Given the description of an element on the screen output the (x, y) to click on. 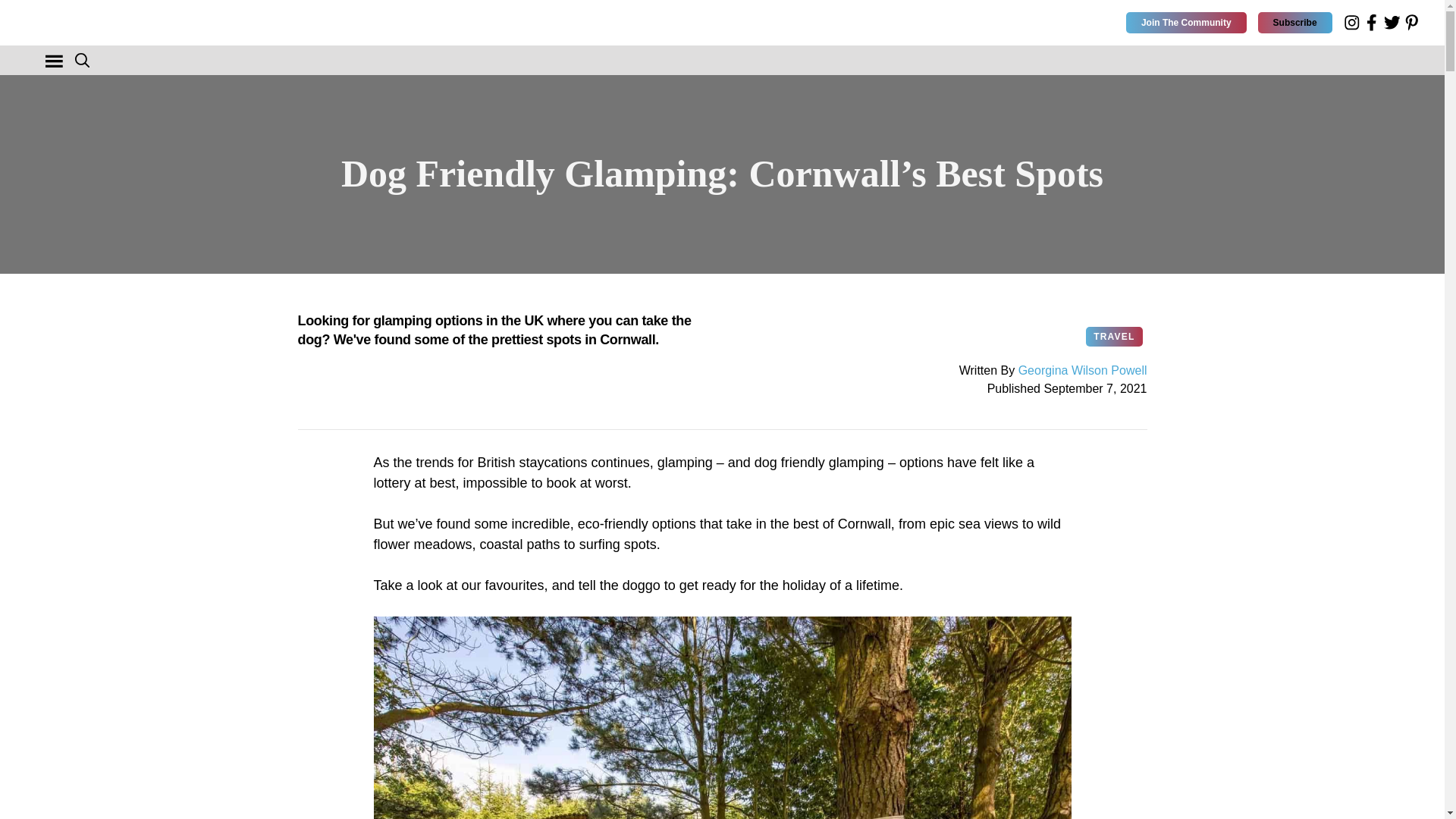
Subscribe (1294, 22)
Georgina Wilson Powell (1082, 369)
TOPICS (49, 61)
TRAVEL (1113, 335)
Join The Community (1185, 22)
